Given the description of an element on the screen output the (x, y) to click on. 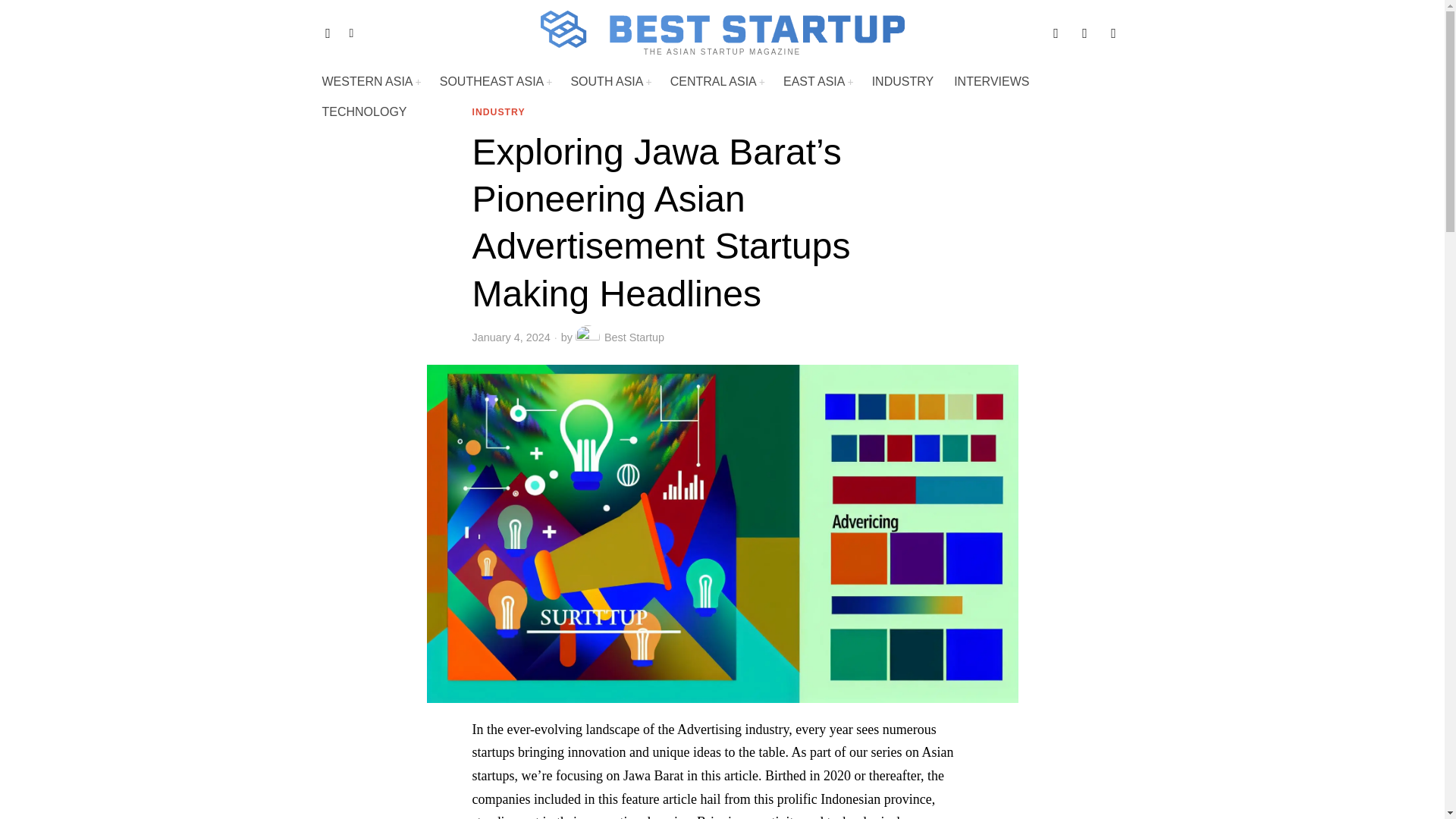
04 Jan, 2024 04:48:39 (510, 337)
SOUTH ASIA (610, 81)
SOUTHEAST ASIA (496, 81)
WESTERN ASIA (371, 81)
